Given the description of an element on the screen output the (x, y) to click on. 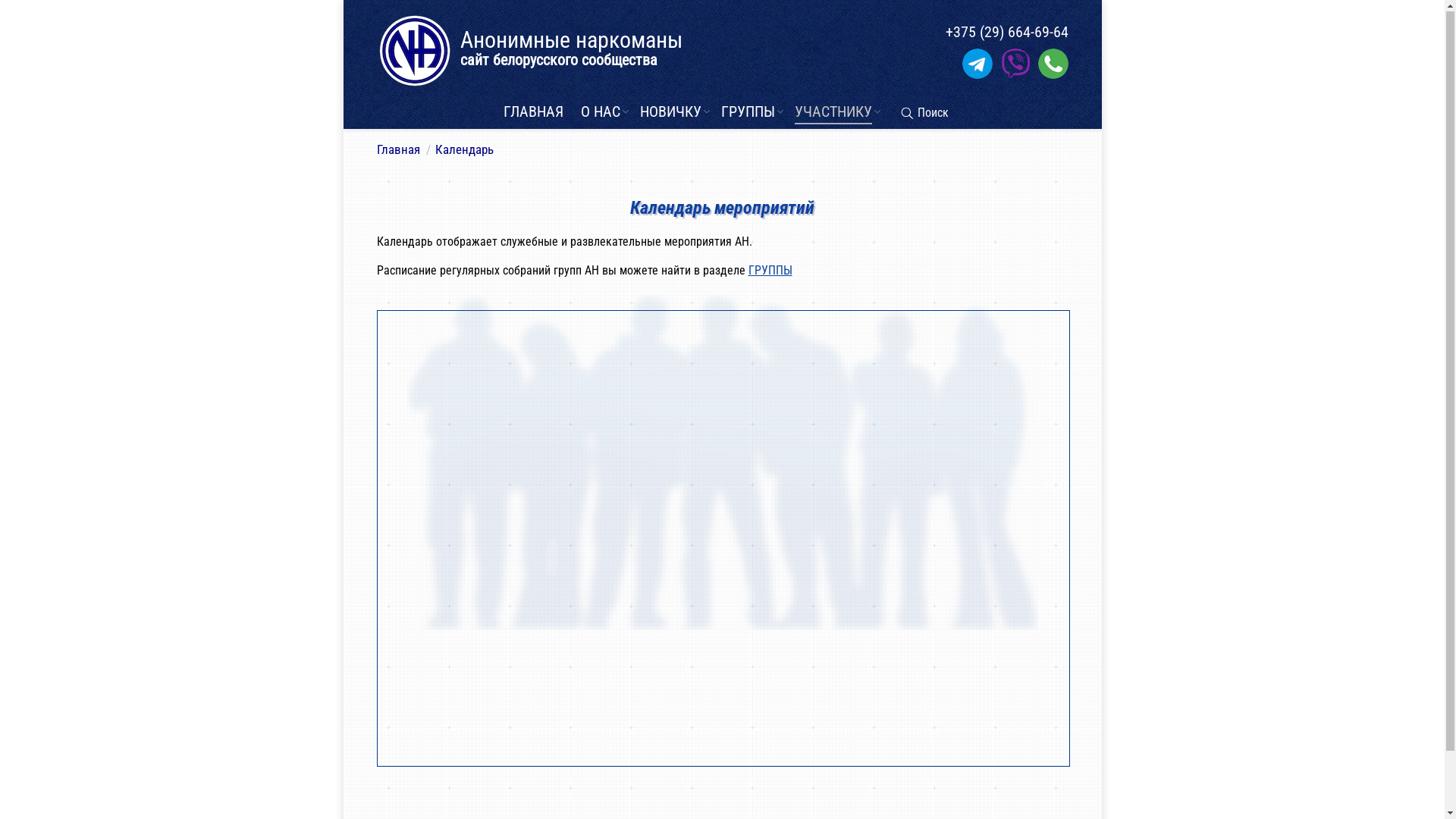
+375 (29) 664-69-64 Element type: text (1005, 32)
Go! Element type: text (17, 14)
